Given the description of an element on the screen output the (x, y) to click on. 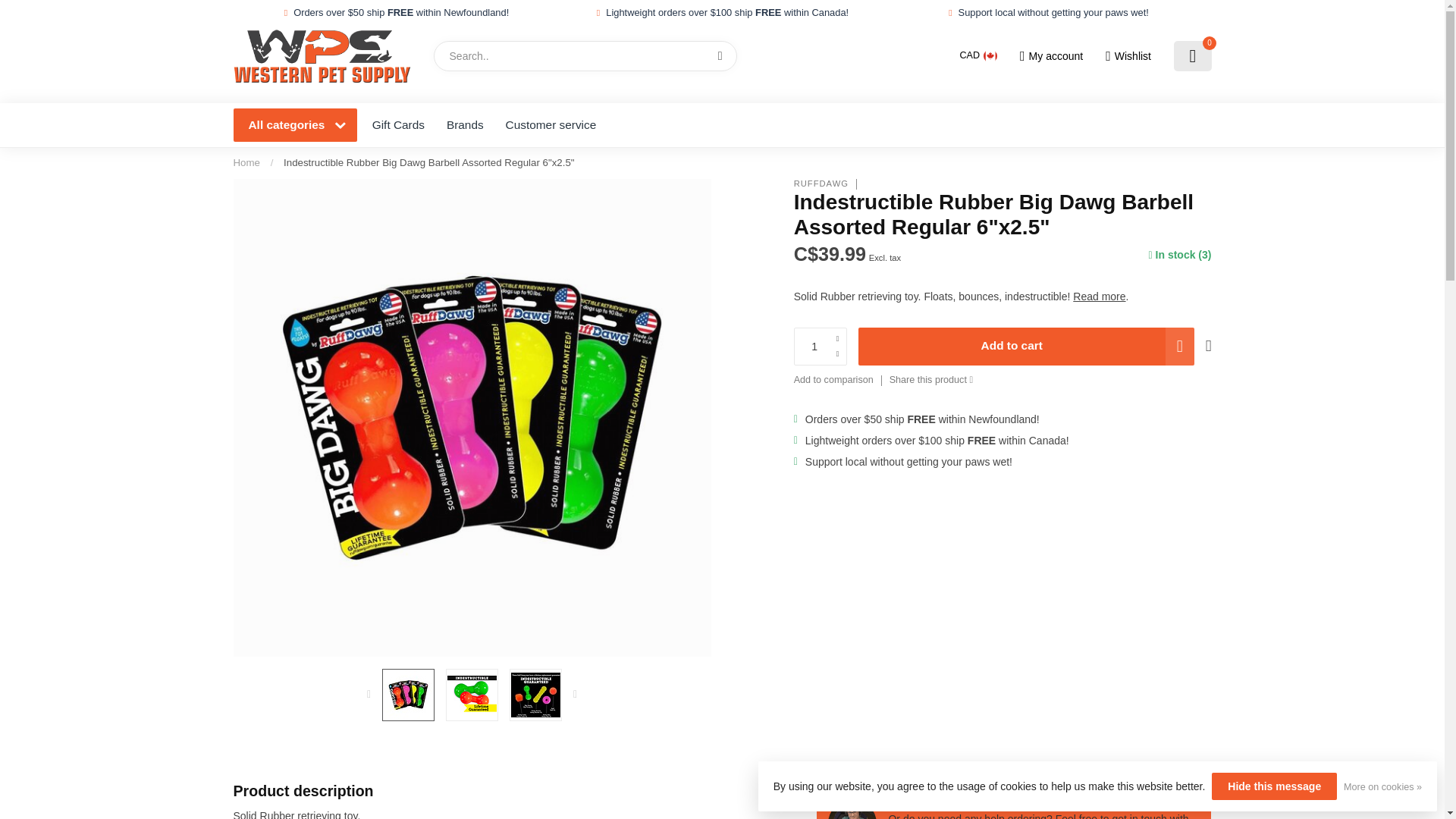
1 (1060, 244)
1 (820, 346)
Wishlist (1128, 55)
Home (246, 162)
0 (1192, 55)
Wishlist (1128, 55)
Gift Cards Brands Customer service (785, 124)
My account (1051, 55)
